Given the description of an element on the screen output the (x, y) to click on. 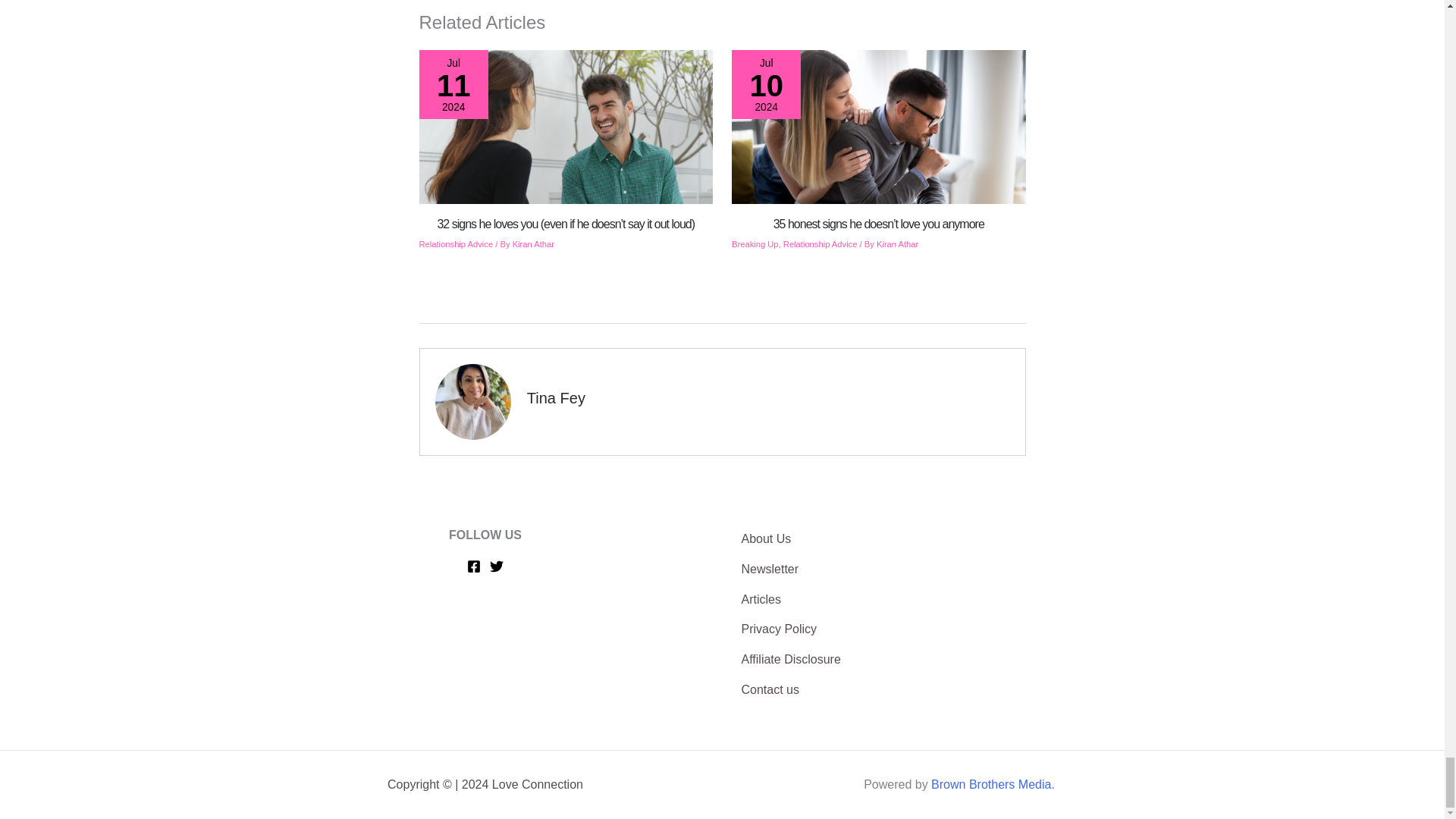
View all posts by Kiran Athar (897, 243)
View all posts by Kiran Athar (533, 243)
